Given the description of an element on the screen output the (x, y) to click on. 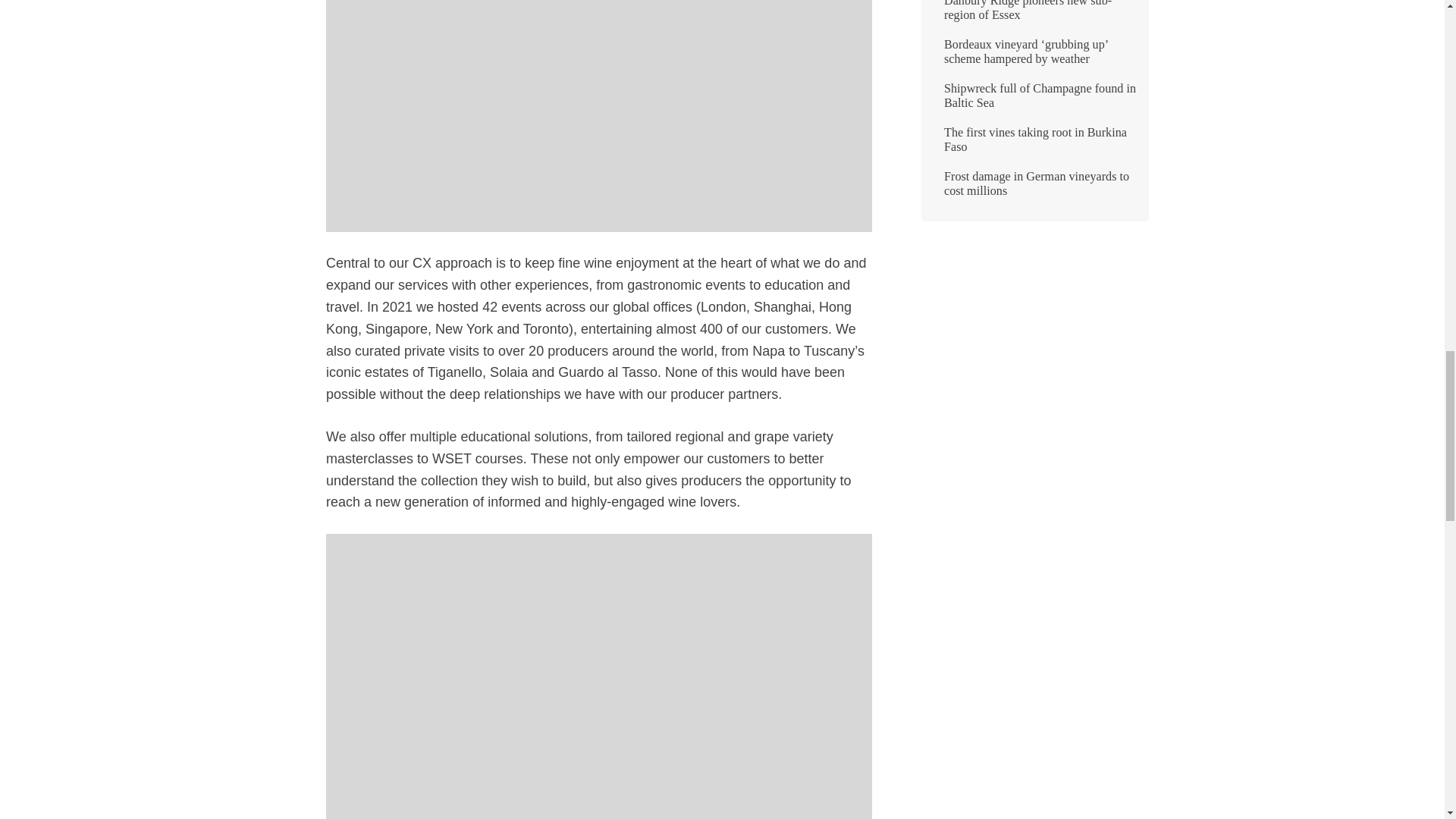
Frost damage in German vineyards to cost millions (1035, 189)
Danbury Ridge pioneers new sub-region of Essex (1035, 17)
The first vines taking root in Burkina Faso (1035, 146)
Shipwreck full of Champagne found in Baltic Sea (1035, 101)
